Given the description of an element on the screen output the (x, y) to click on. 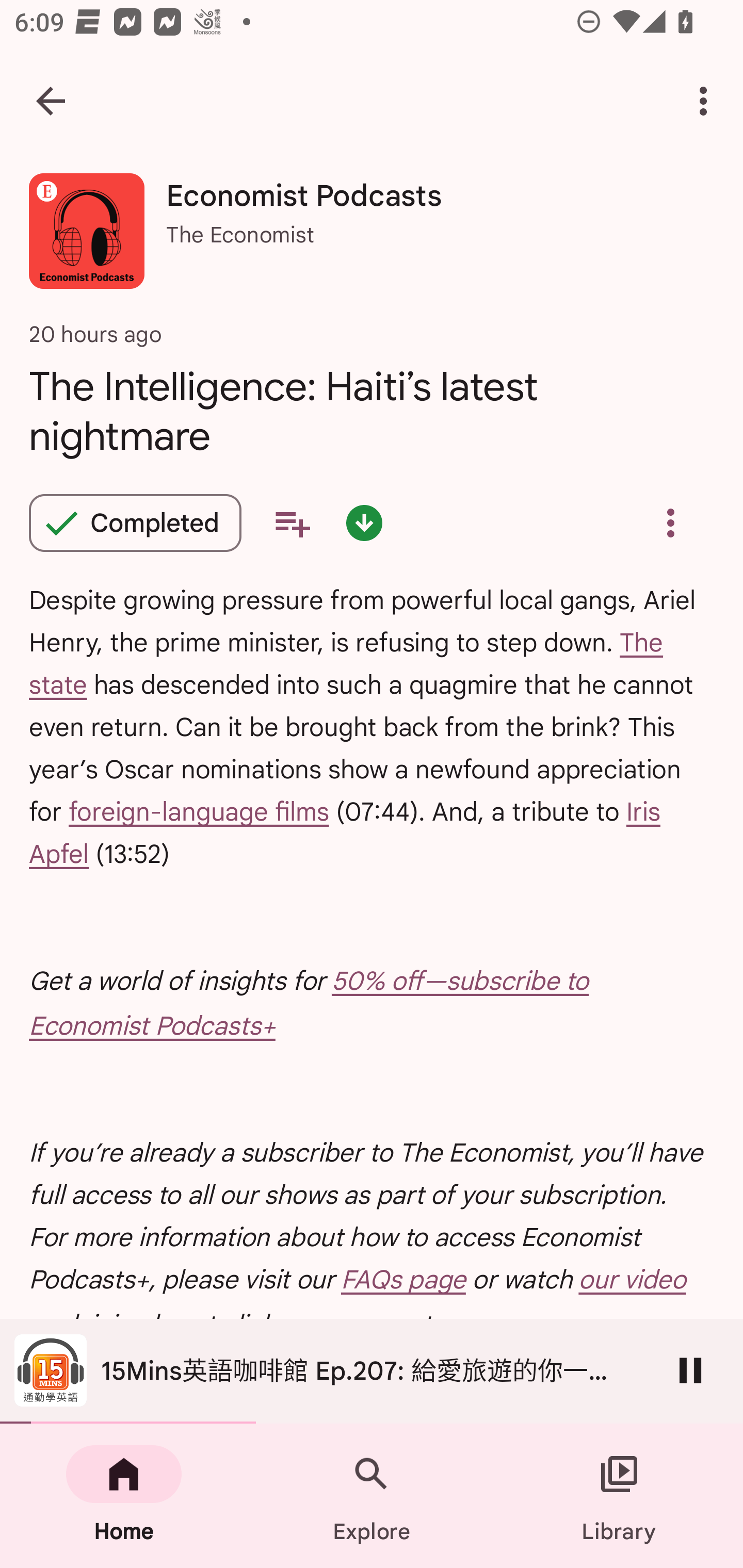
Navigate up (50, 101)
More options (706, 101)
Add to your queue (291, 522)
Episode downloaded - double tap for options (364, 522)
Overflow menu (670, 522)
Pause (690, 1370)
Explore (371, 1495)
Library (619, 1495)
